Given the description of an element on the screen output the (x, y) to click on. 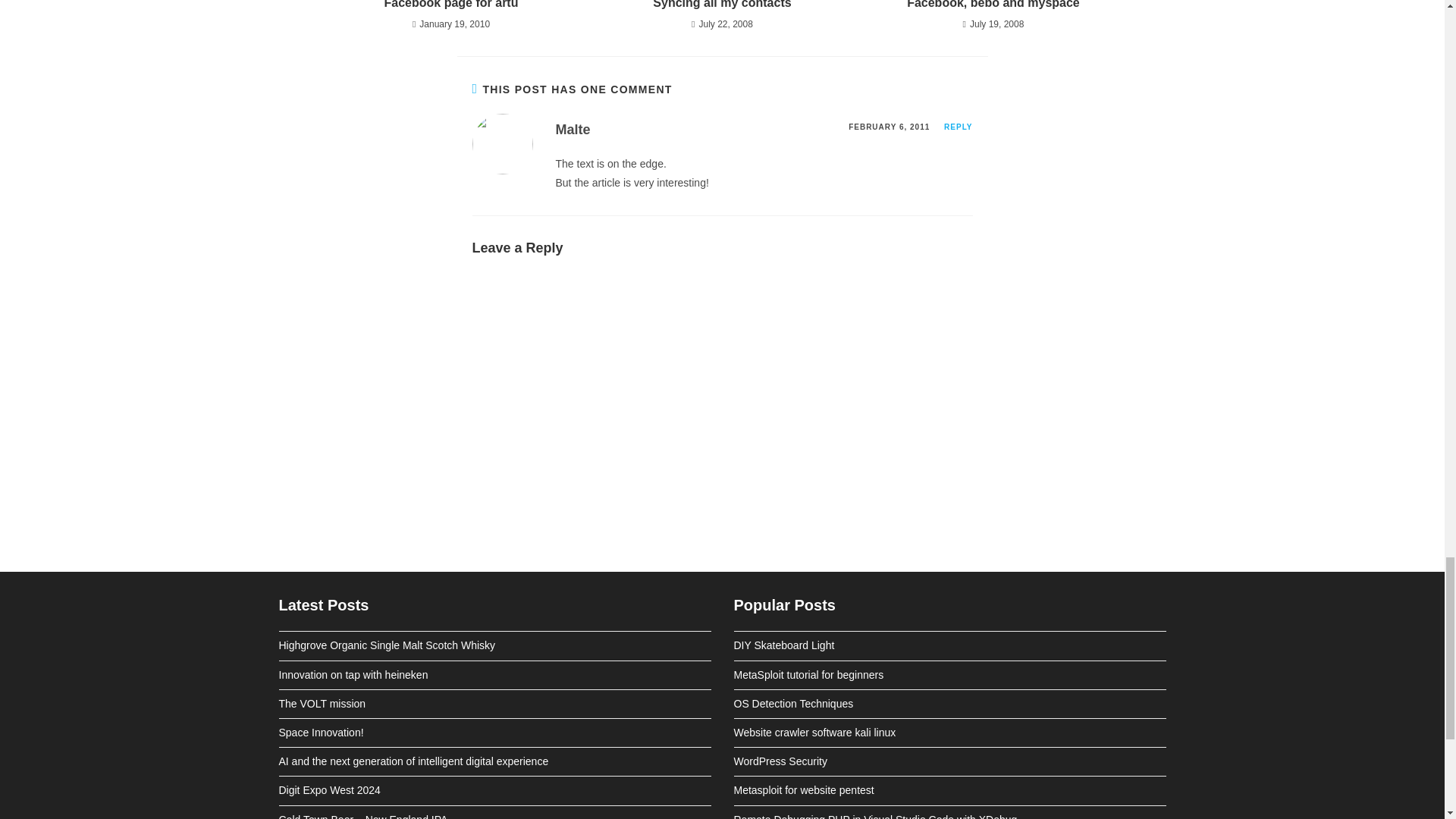
Comment Form (721, 391)
